Given the description of an element on the screen output the (x, y) to click on. 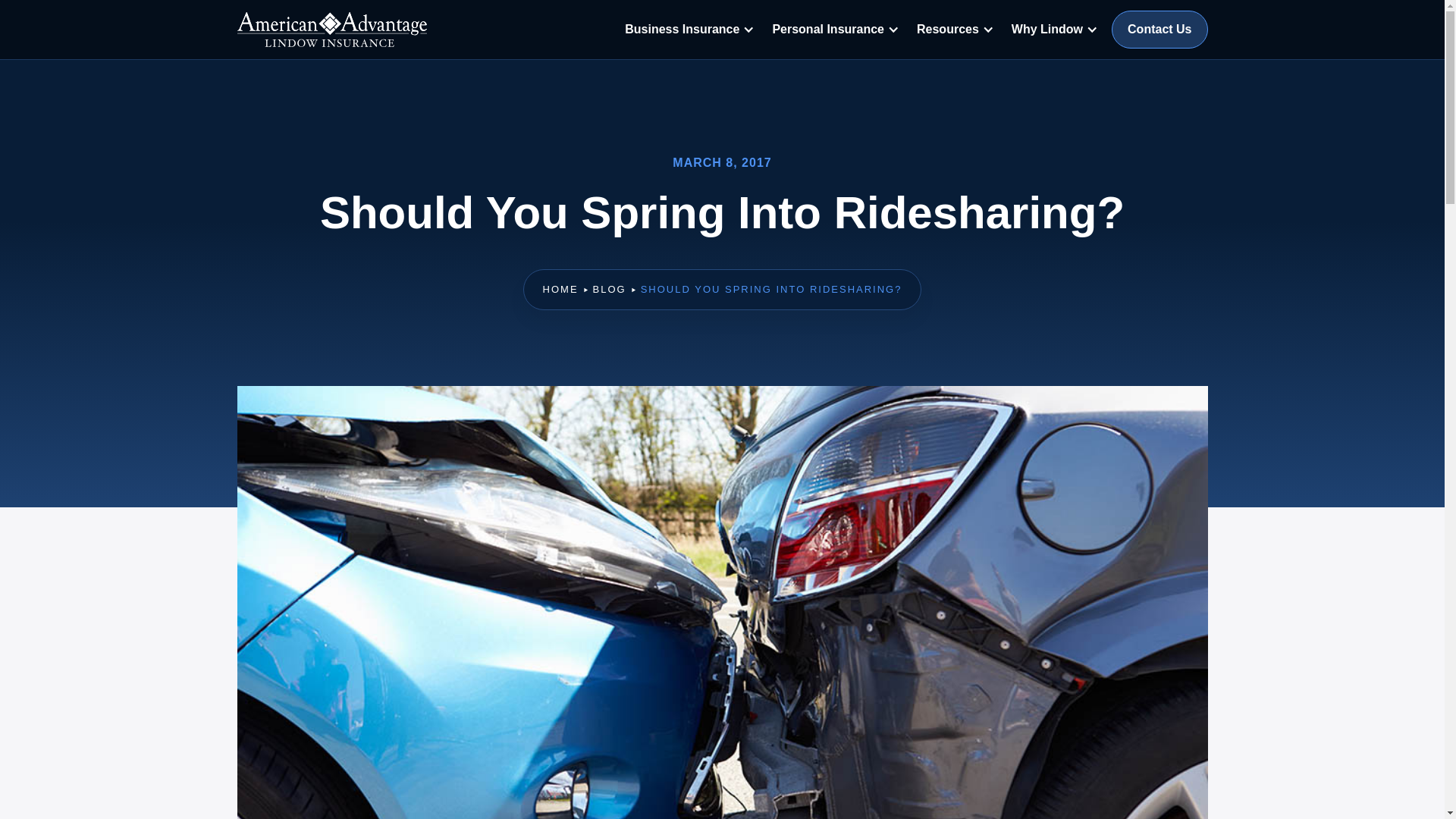
Contact Us (1159, 29)
BLOG (609, 289)
HOME (560, 289)
